Given the description of an element on the screen output the (x, y) to click on. 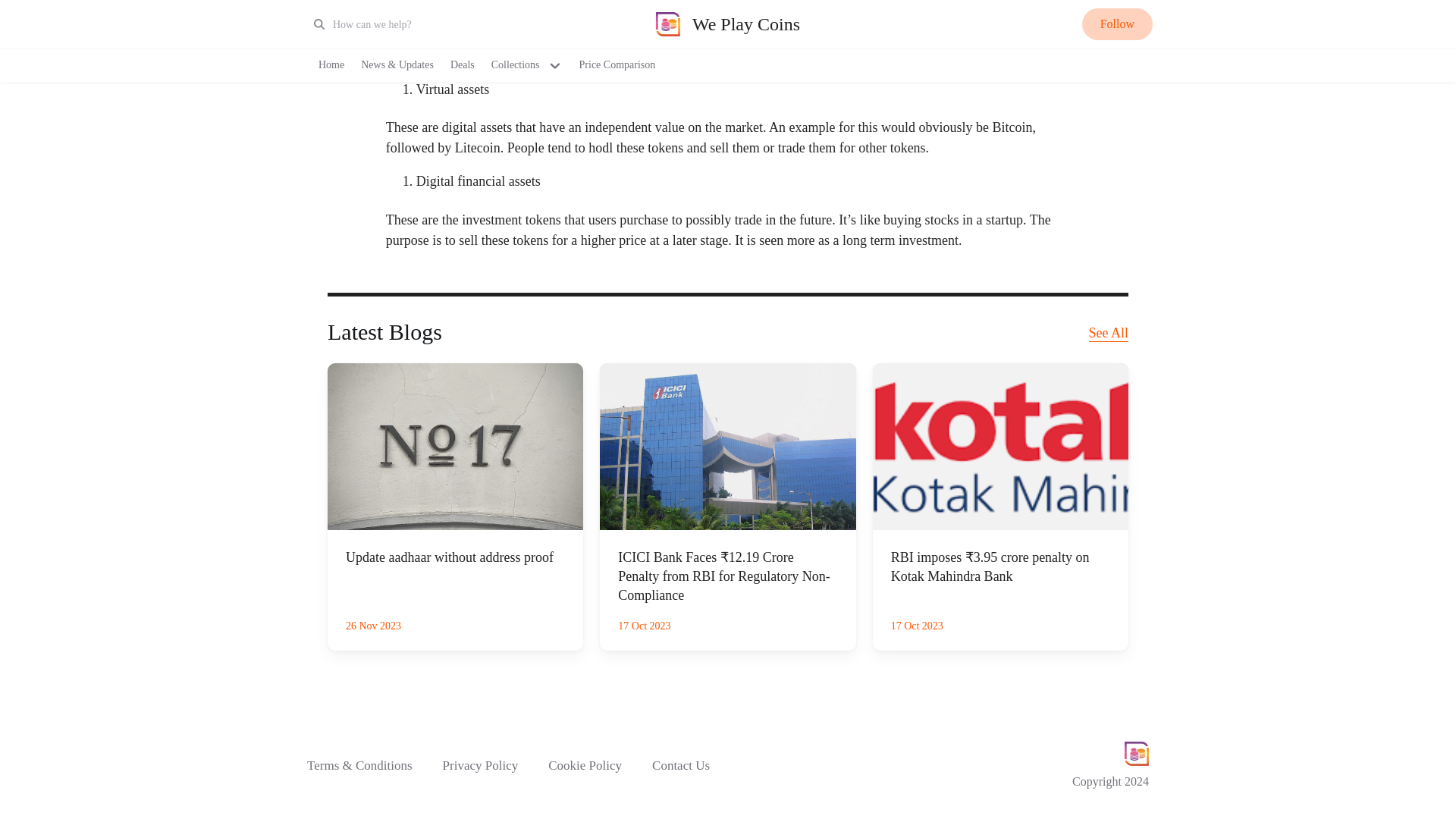
Cookie Policy (584, 765)
Privacy Policy (480, 765)
Contact Us (688, 765)
